Given the description of an element on the screen output the (x, y) to click on. 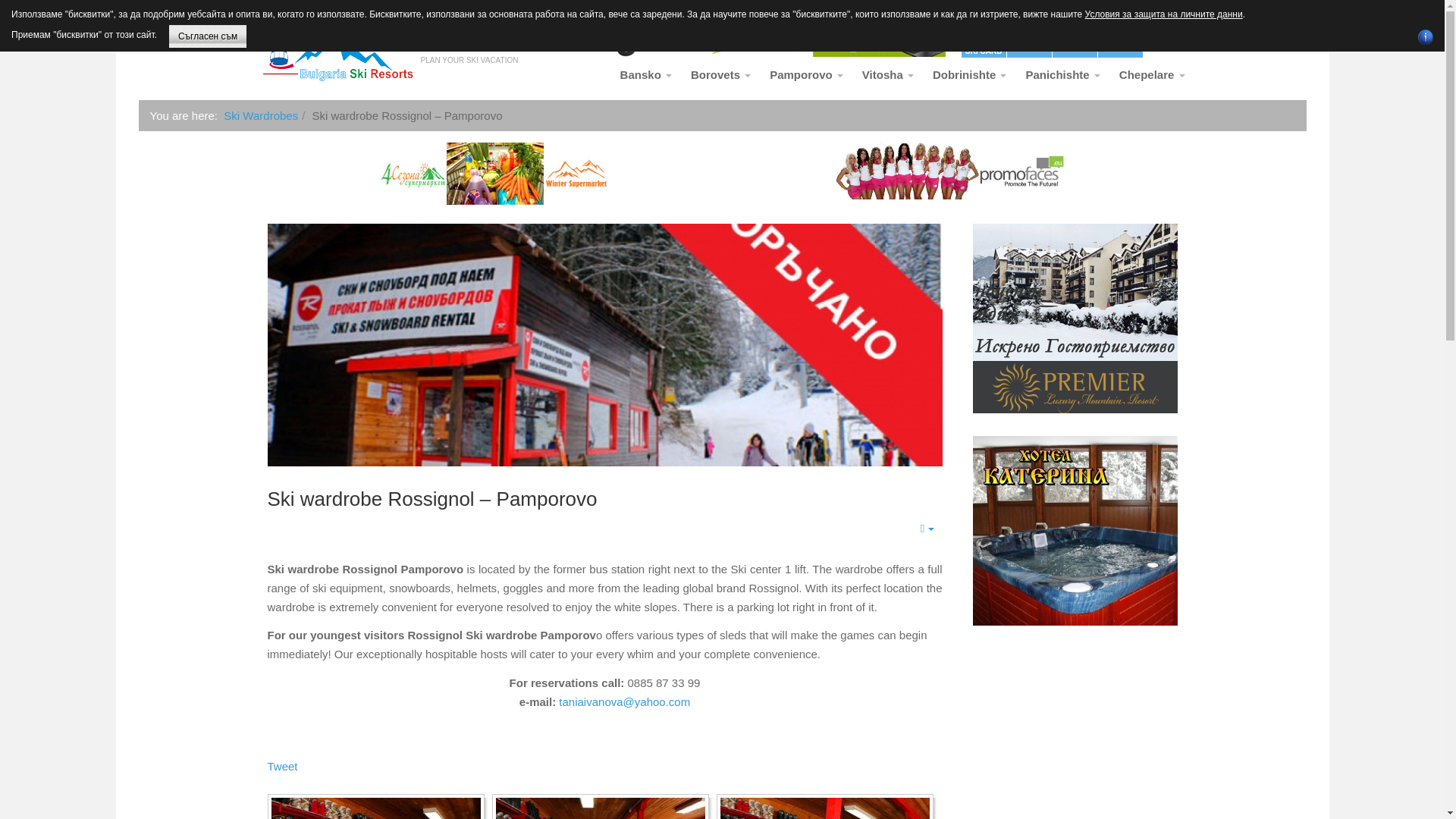
Click to enlarge image ski-garderob-1.jpg (392, 42)
Ski Resorts in Bulgaria  (375, 808)
Recharge your ski pass (392, 42)
Webcams (983, 37)
image (1030, 36)
Click to preview image (747, 37)
Condition of lifts (825, 808)
Condition of tracks (1073, 36)
Click to enlarge image ski-garderob-rossignol-1.jpg (1121, 36)
